Given the description of an element on the screen output the (x, y) to click on. 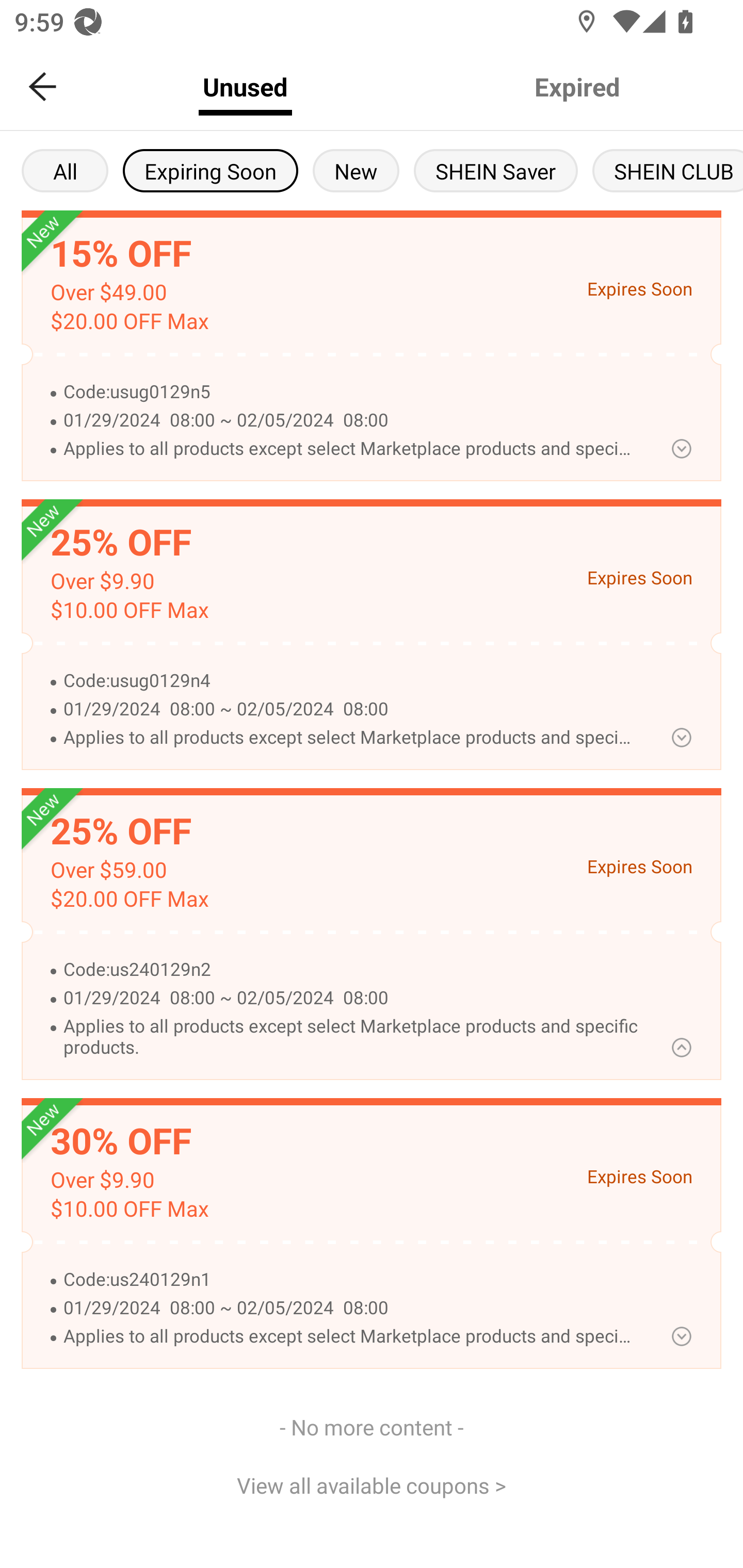
Unused (244, 86)
Expired (576, 86)
All (64, 170)
Expiring Soon (209, 170)
New (355, 170)
SHEIN Saver (495, 170)
SHEIN CLUB (667, 170)
$20.00 OFF Max (129, 320)
Code:usug0129n5 (350, 391)
01/29/2024  08:00 ~ 02/05/2024  08:00 (350, 420)
Pack up (681, 448)
$10.00 OFF Max (129, 609)
Code:usug0129n4 (350, 681)
01/29/2024  08:00 ~ 02/05/2024  08:00 (350, 709)
Pack up (681, 737)
$20.00 OFF Max (129, 898)
Code:us240129n2 (350, 969)
01/29/2024  08:00 ~ 02/05/2024  08:00 (350, 997)
Pack up (681, 1047)
$10.00 OFF Max (129, 1208)
Code:us240129n1 (350, 1280)
01/29/2024  08:00 ~ 02/05/2024  08:00 (350, 1308)
Pack up (681, 1335)
View all available coupons > (371, 1485)
